Given the description of an element on the screen output the (x, y) to click on. 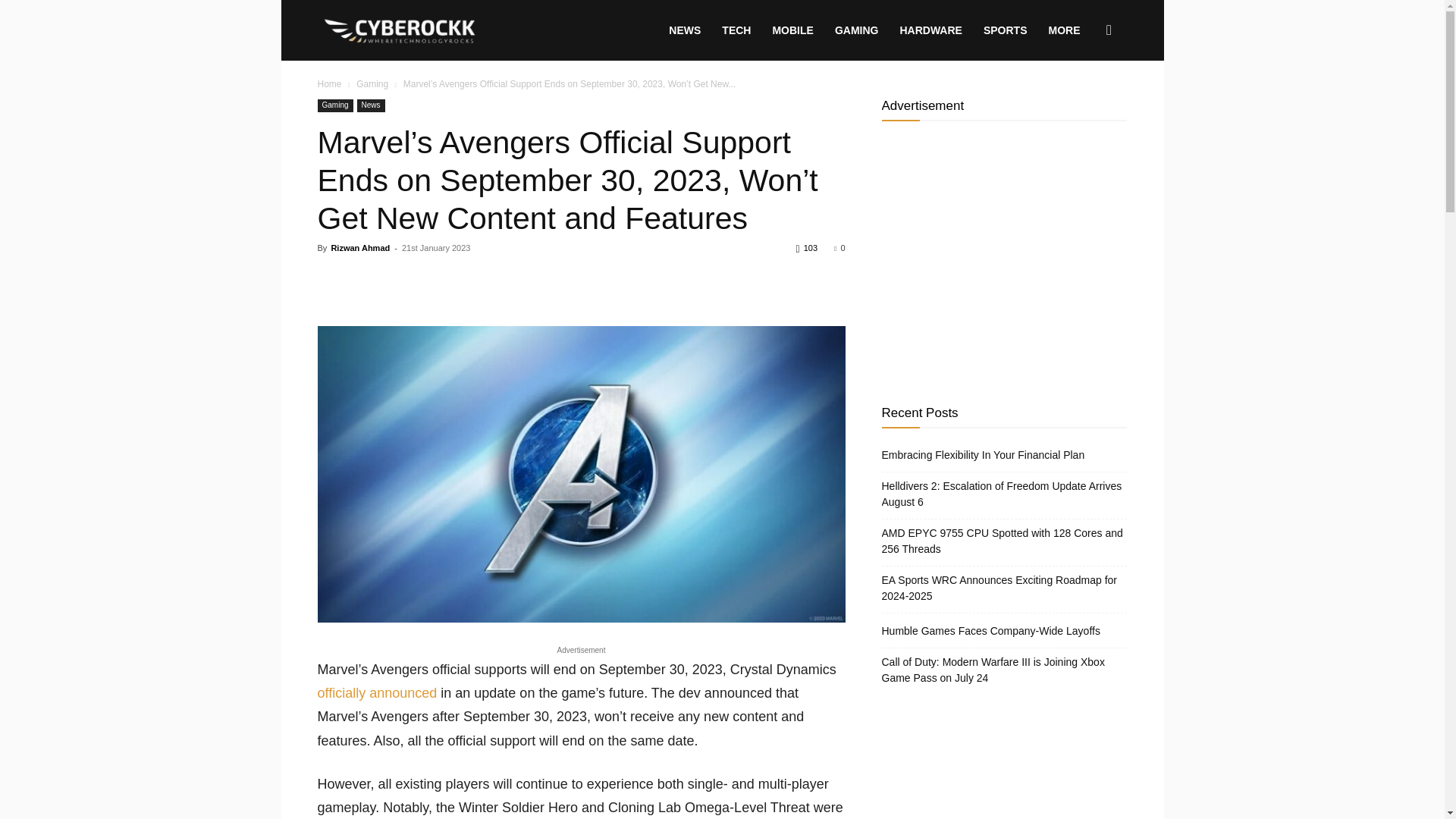
SPORTS (1005, 30)
GAMING (856, 30)
HARDWARE (930, 30)
Cyberockk (400, 30)
MOBILE (792, 30)
Search (1085, 102)
